Given the description of an element on the screen output the (x, y) to click on. 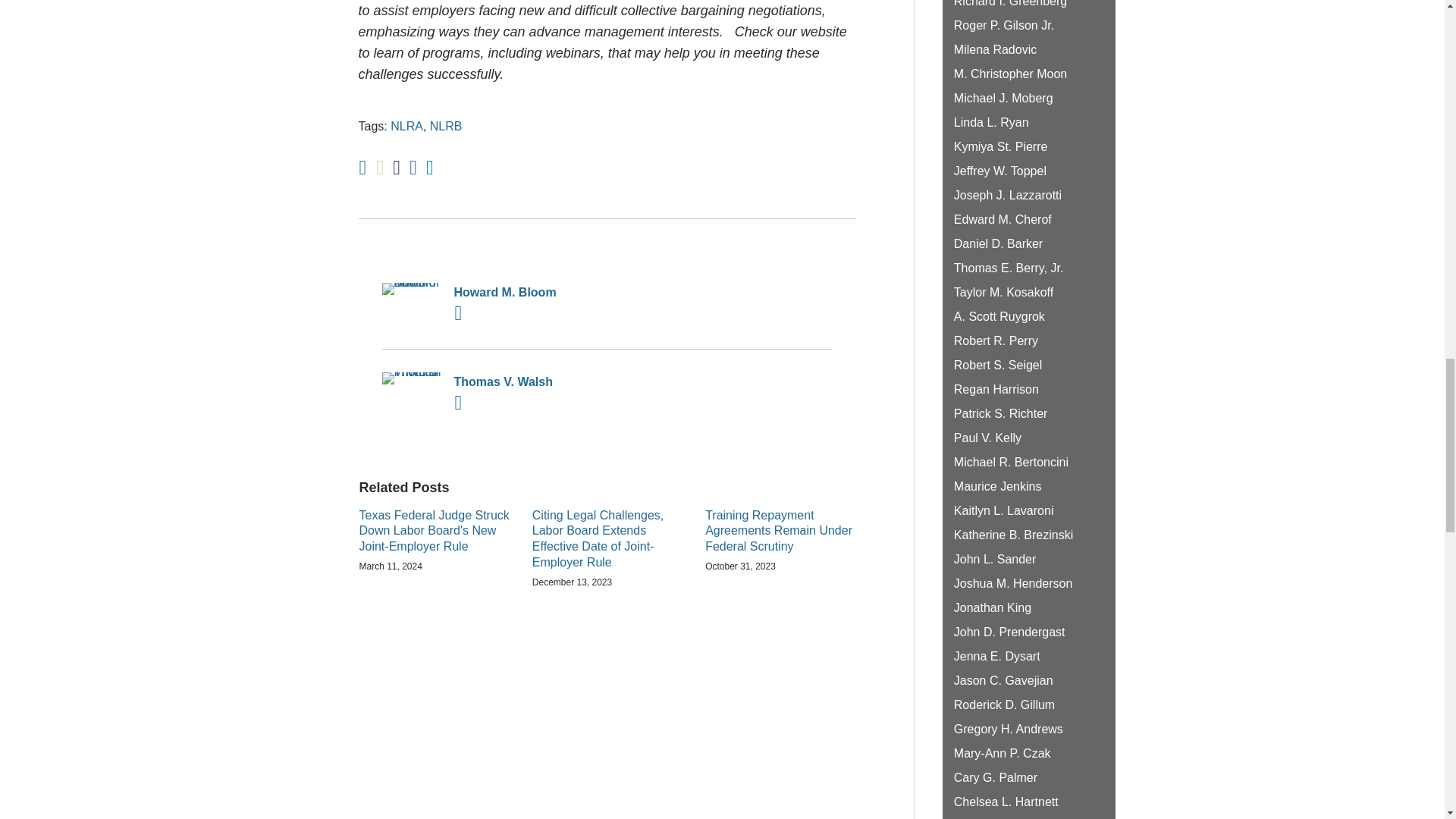
Thomas V. Walsh (606, 382)
NLRA (406, 125)
Howard M. Bloom (606, 292)
NLRB (446, 125)
Training Repayment Agreements Remain Under Federal Scrutiny (780, 531)
